Given the description of an element on the screen output the (x, y) to click on. 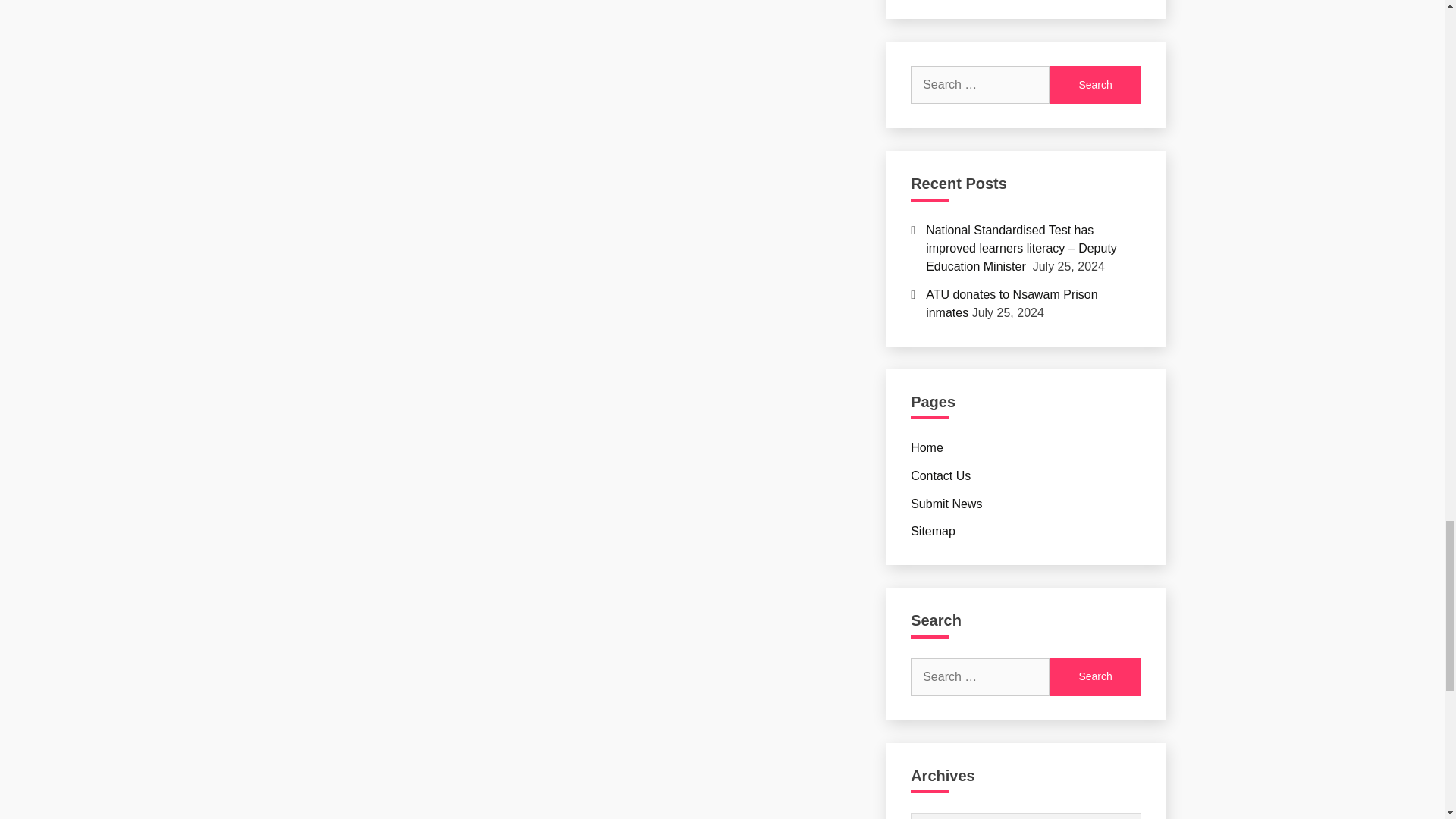
Search (1095, 85)
Search (1095, 677)
Search (1095, 677)
Home (927, 447)
Search (1095, 85)
